Given the description of an element on the screen output the (x, y) to click on. 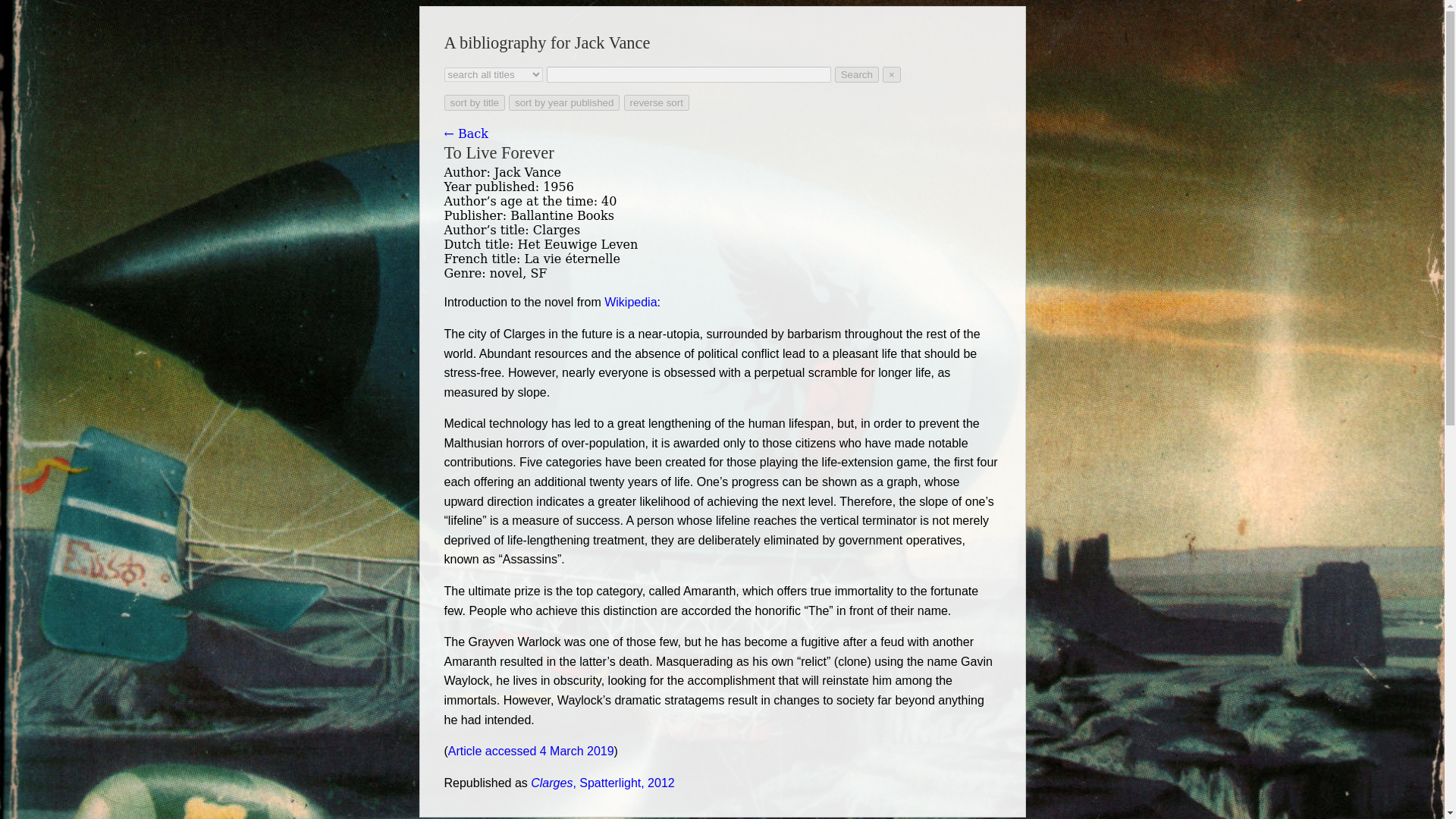
Title known to be preferred by the author (722, 229)
reverse sort (656, 102)
sort by title (474, 102)
Clarges, Spatterlight, 2012 (602, 782)
Article accessed 4 March 2019 (531, 750)
Wikipedia (630, 301)
Search (856, 74)
sort by year published (564, 102)
A bibliography for Jack Vance (547, 42)
